Given the description of an element on the screen output the (x, y) to click on. 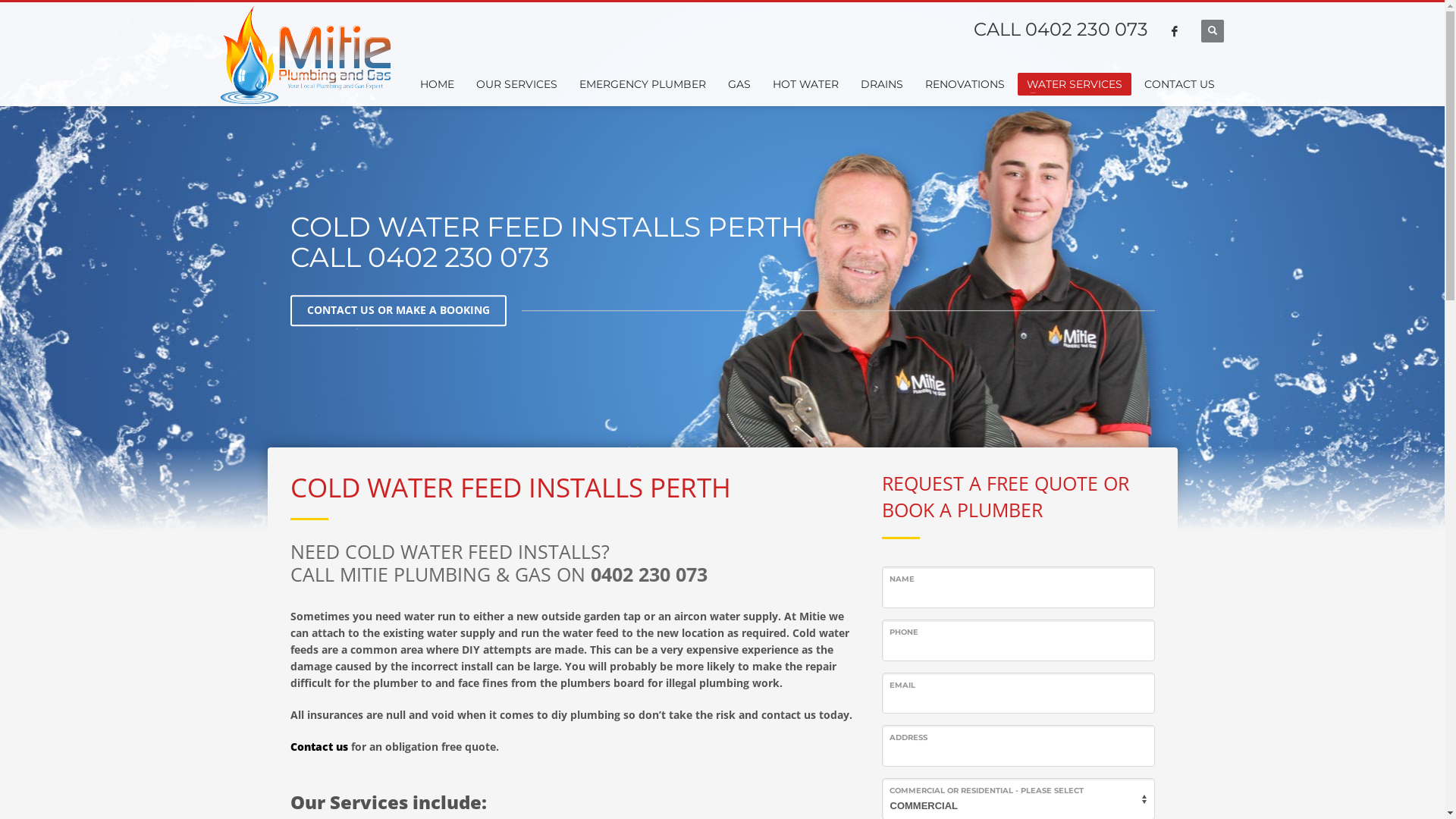
GAS Element type: text (738, 84)
RENOVATIONS Element type: text (964, 84)
DRAINS Element type: text (881, 84)
HOT WATER Element type: text (805, 84)
CONTACT US Element type: text (1179, 84)
EMERGENCY PLUMBER Element type: text (642, 84)
CONTACT US OR MAKE A BOOKING Element type: text (397, 309)
WATER SERVICES Element type: text (1074, 84)
Contact us Element type: text (318, 746)
OUR SERVICES Element type: text (516, 84)
Facebook Element type: hover (1174, 30)
HOME Element type: text (437, 84)
Plumbing and Gas Services Element type: hover (305, 55)
